Given the description of an element on the screen output the (x, y) to click on. 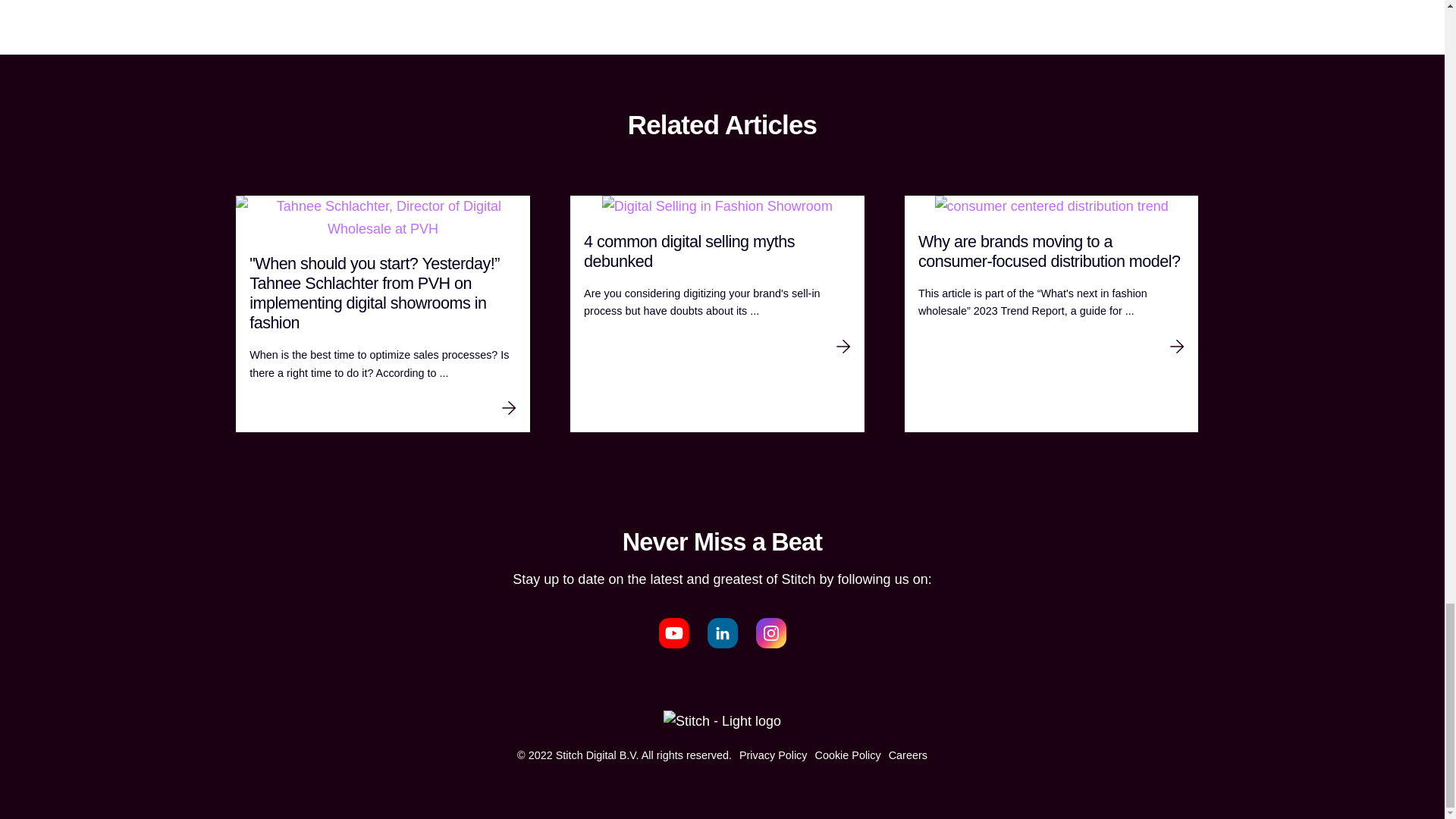
4 common digital selling myths debunked (716, 251)
Cookie Policy (847, 755)
Privacy Policy (773, 755)
